Given the description of an element on the screen output the (x, y) to click on. 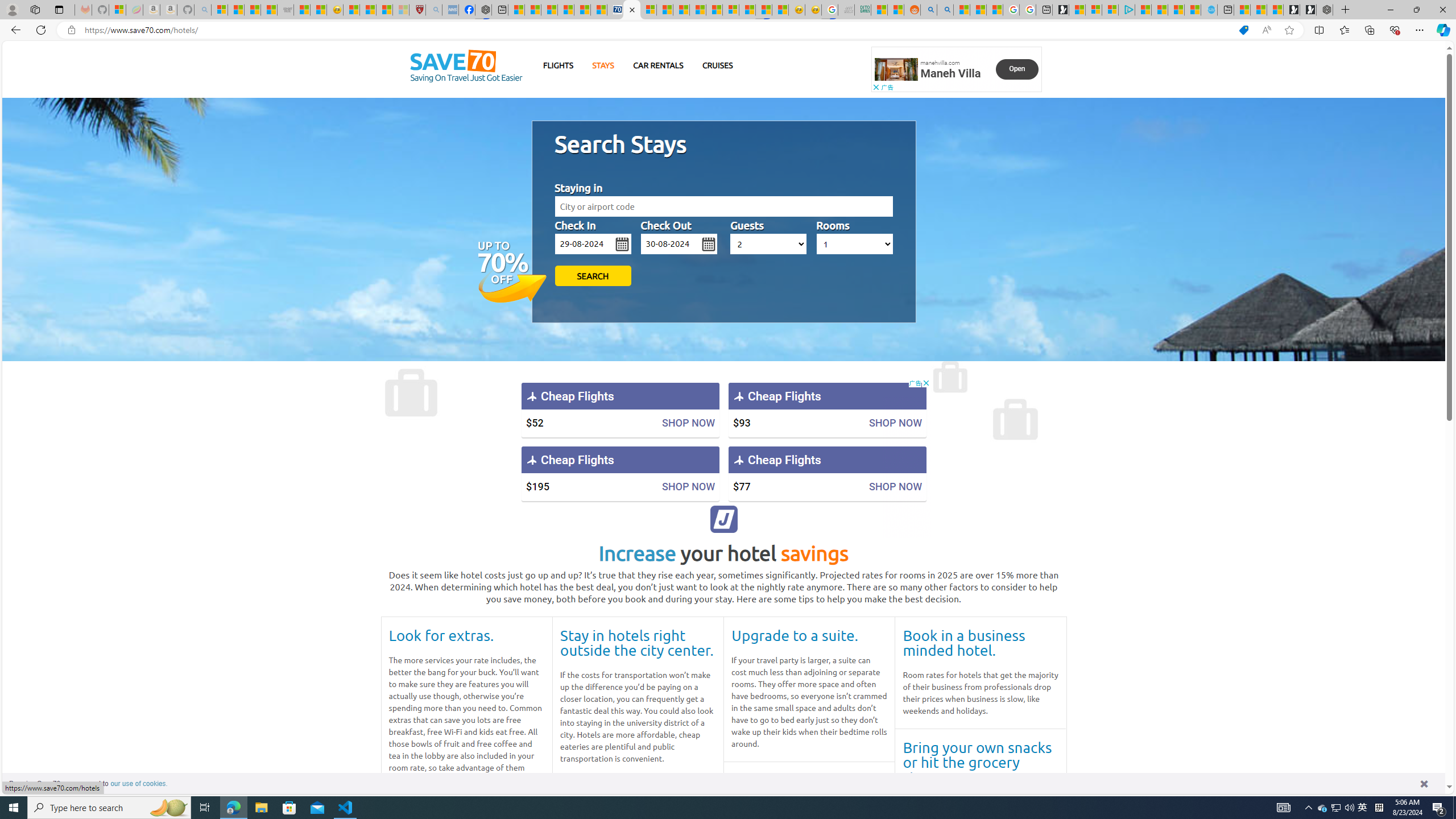
Cheap Flights $52 SHOP NOW (620, 409)
mm/dd/yy (678, 243)
CAR RENTALS (657, 65)
Cheap Flights $195 SHOP NOW (620, 473)
dismiss cookie message (1424, 783)
CRUISES (717, 65)
